Given the description of an element on the screen output the (x, y) to click on. 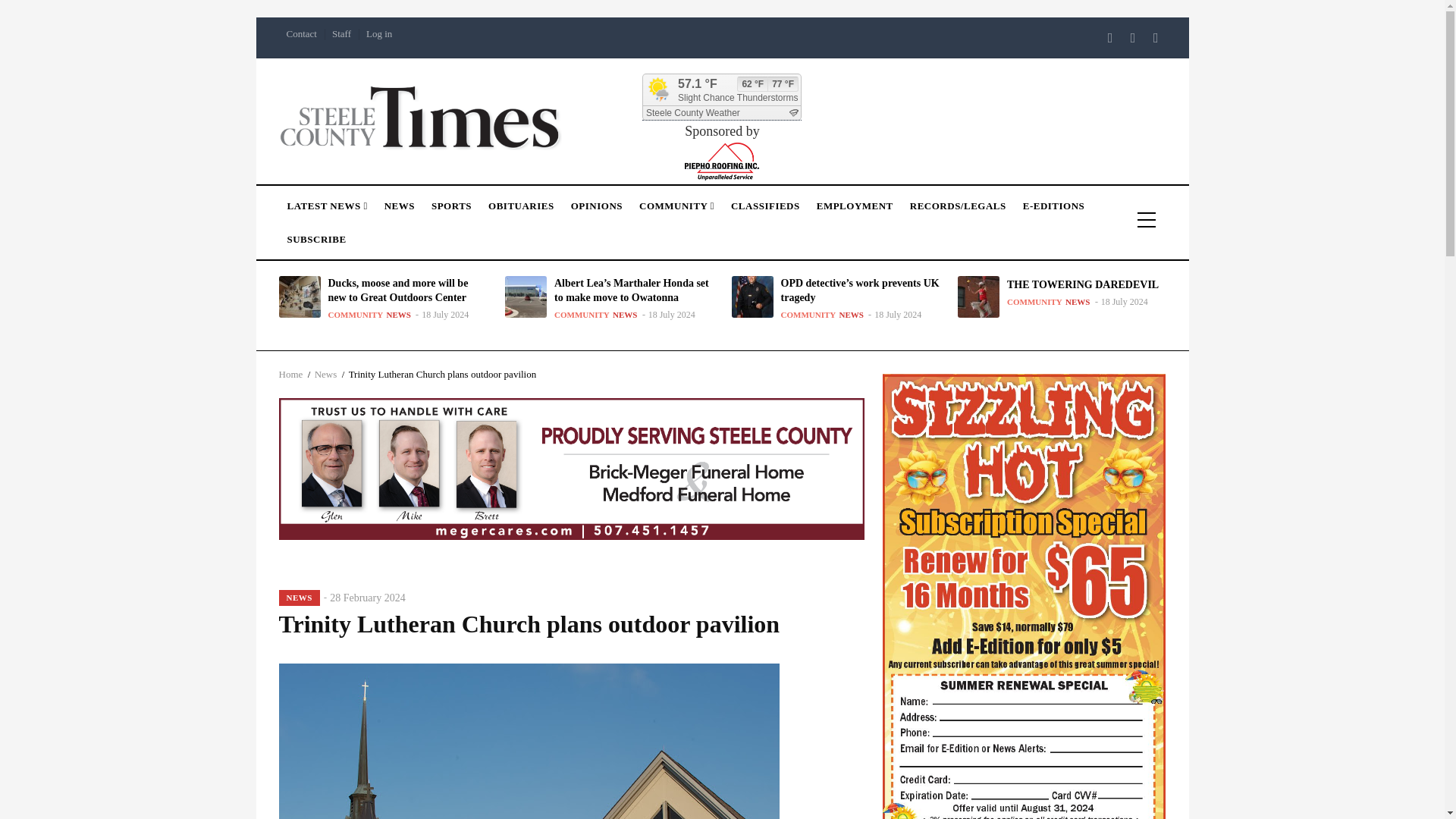
forecast (722, 112)
NEWS (399, 201)
Home (420, 115)
Contact (301, 33)
LATEST NEWS (327, 201)
Staff (341, 33)
Log in (378, 33)
